Given the description of an element on the screen output the (x, y) to click on. 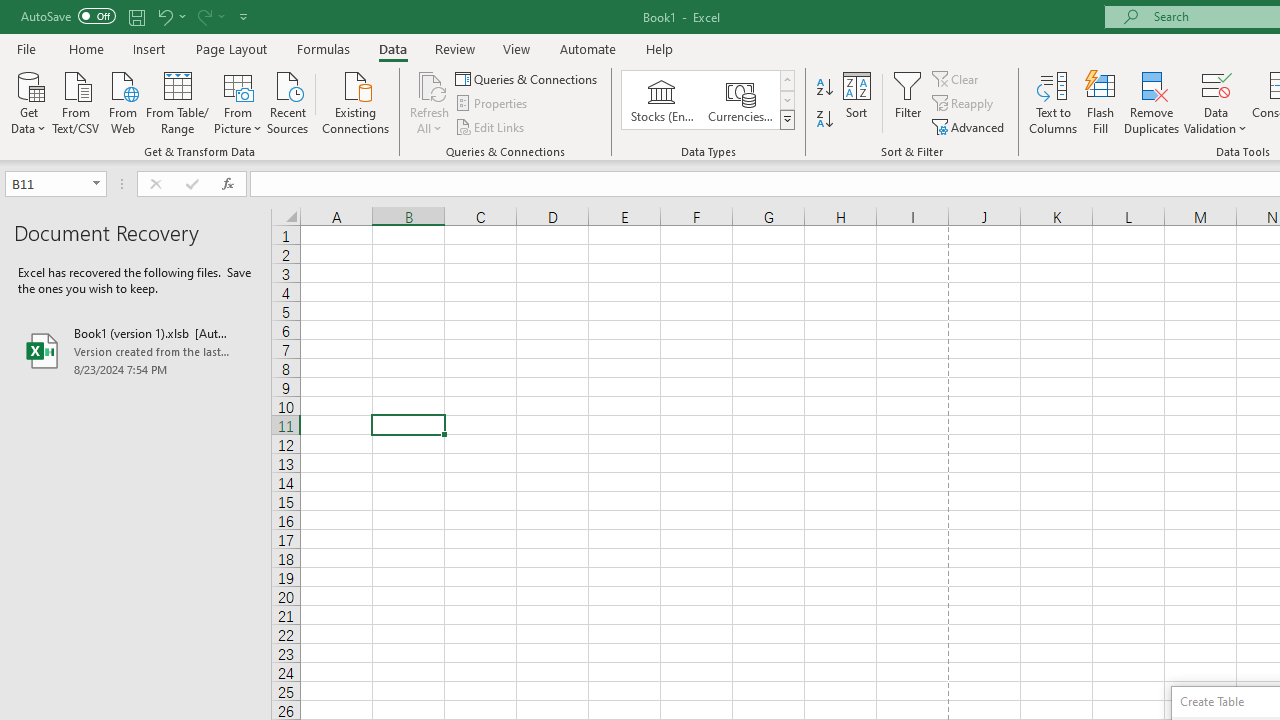
Help (660, 48)
Currencies (English) (740, 100)
Row Down (786, 100)
AutomationID: ConvertToLinkedEntity (708, 99)
Data Types (786, 120)
Reapply (964, 103)
Properties (492, 103)
From Picture (238, 101)
Sort Z to A (824, 119)
Sort... (856, 102)
Stocks (English) (662, 100)
Automate (588, 48)
